Given the description of an element on the screen output the (x, y) to click on. 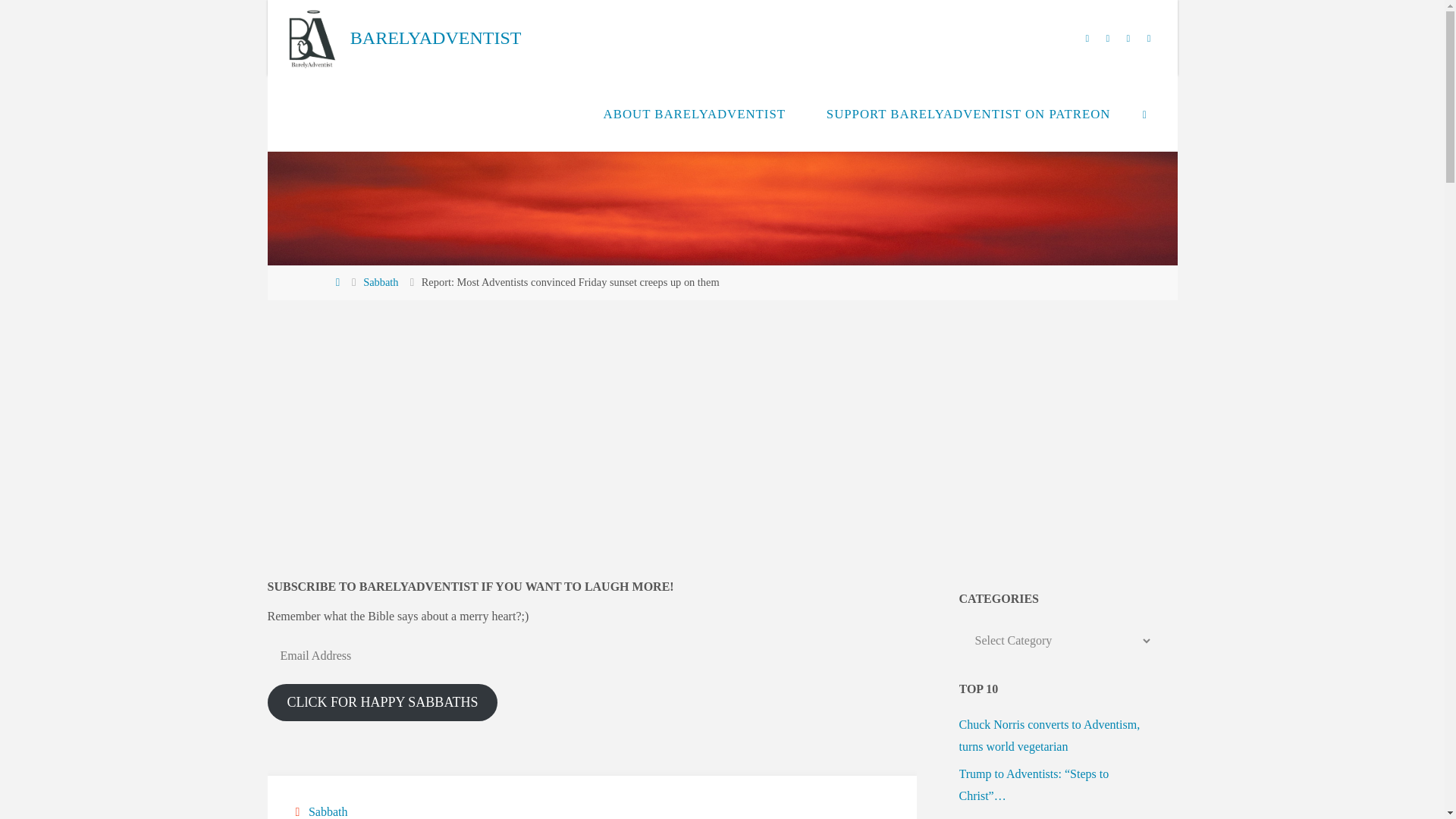
BARELYADVENTIST (435, 37)
CLlCK FOR HAPPY SABBATHS (381, 702)
SUPPORT BARELYADVENTIST ON PATREON (968, 113)
Sabbath (326, 811)
Sabbath (379, 282)
ABOUT BARELYADVENTIST (694, 113)
Categories (298, 811)
BarelyAdventist (311, 37)
